Given the description of an element on the screen output the (x, y) to click on. 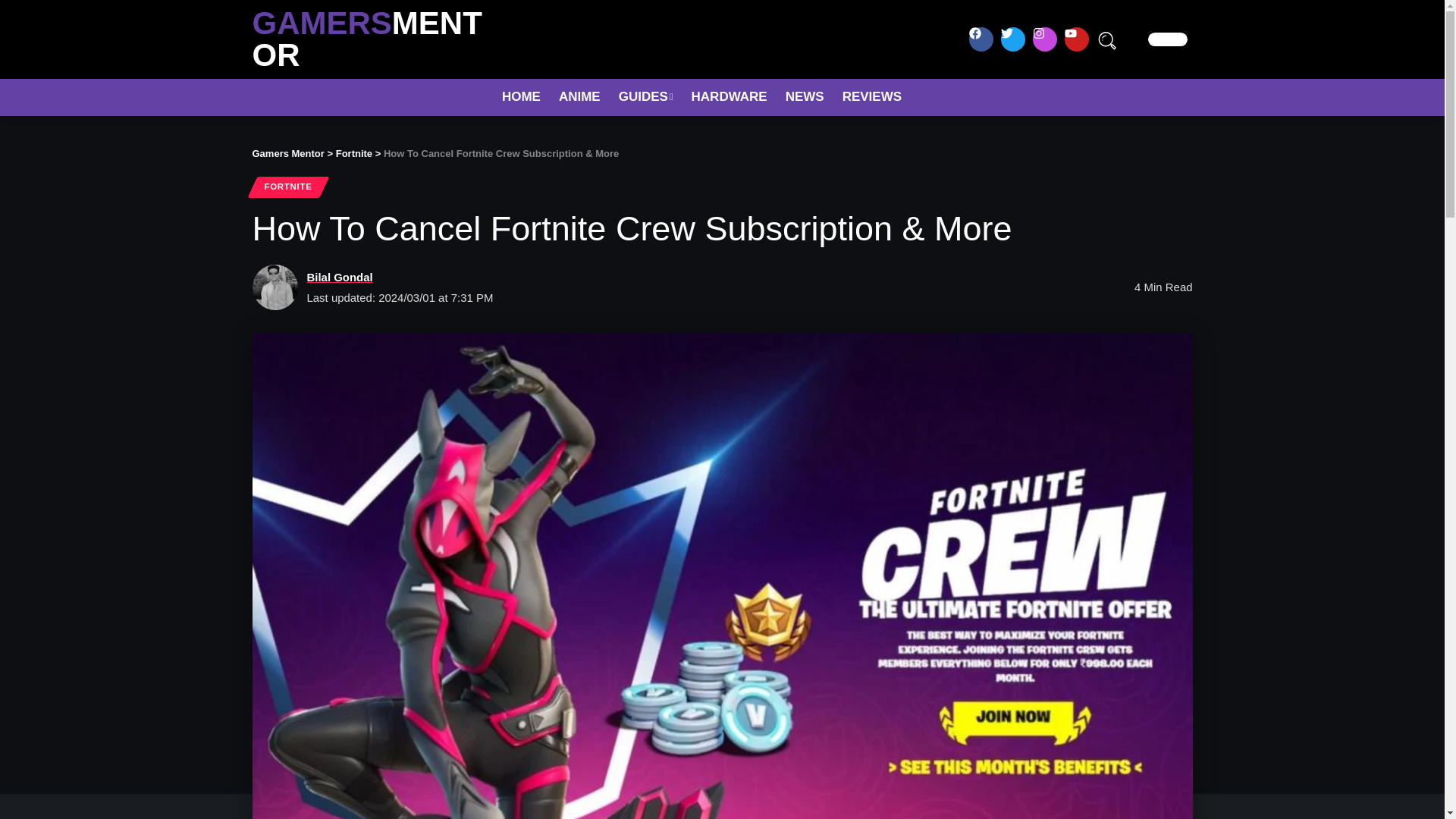
Gamers Mentor (287, 153)
Fortnite (354, 153)
NEWS (804, 97)
GAMERSMENTOR (366, 38)
REVIEWS (871, 97)
Go to Gamers Mentor. (287, 153)
GUIDES (646, 97)
FORTNITE (287, 186)
HARDWARE (729, 97)
HOME (521, 97)
Bilal Gondal (338, 276)
ANIME (580, 97)
Go to the Fortnite Category archives. (354, 153)
